Given the description of an element on the screen output the (x, y) to click on. 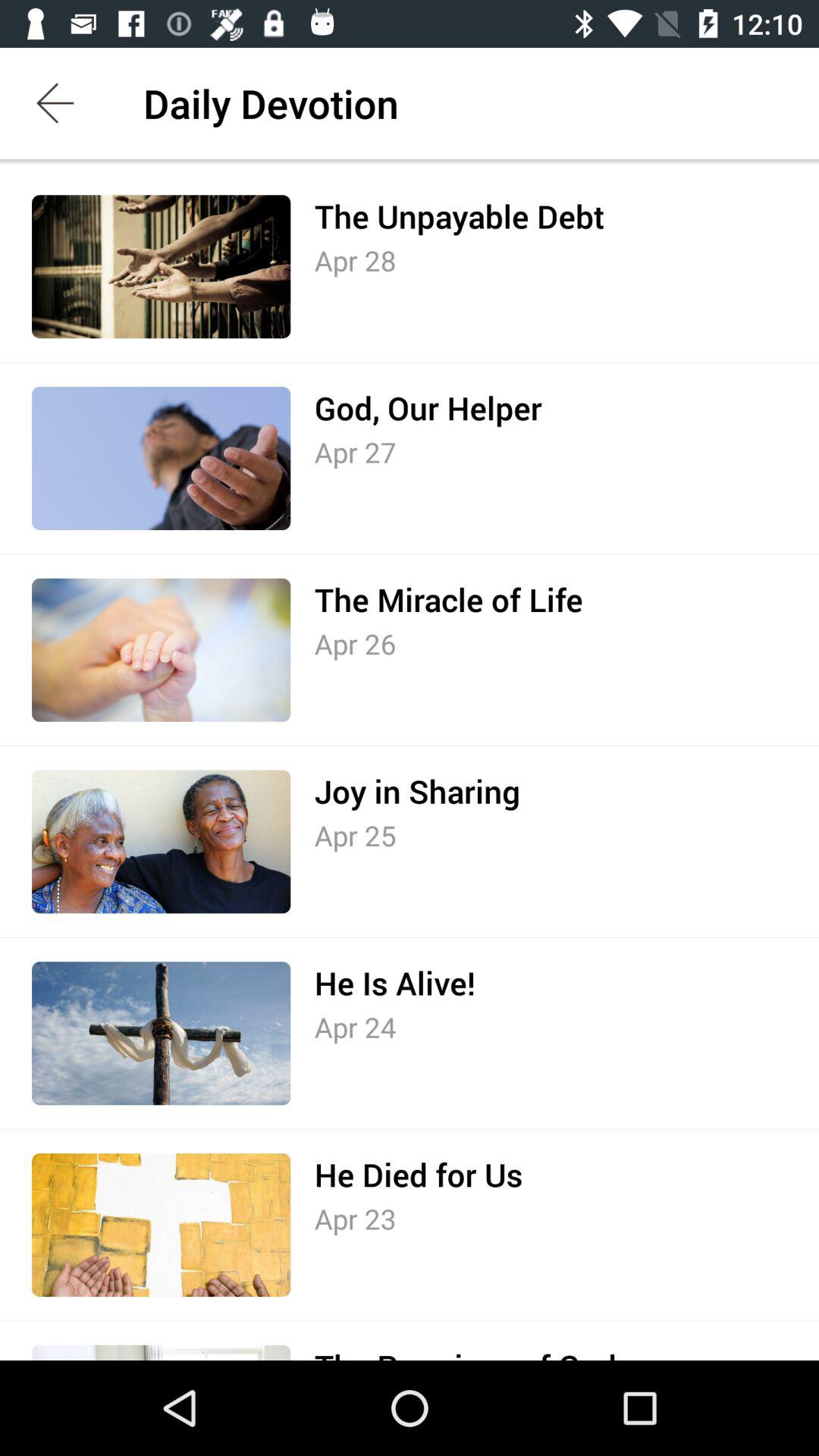
choose apr 26 (355, 643)
